Given the description of an element on the screen output the (x, y) to click on. 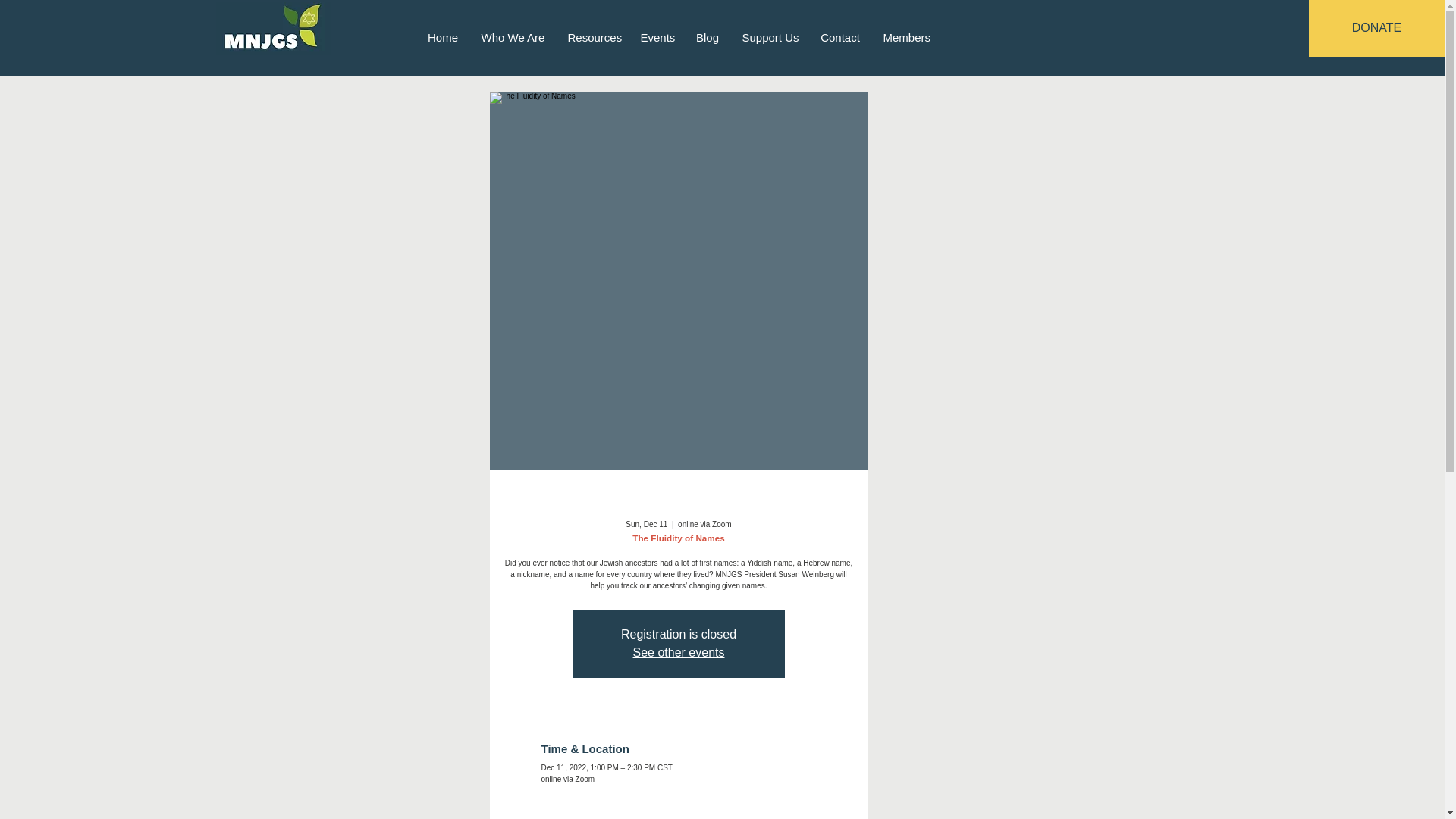
Resources (592, 37)
Blog (707, 37)
Events (656, 37)
Members (907, 37)
Who We Are (513, 37)
Support Us (769, 37)
Home (441, 37)
Contact (839, 37)
See other events (679, 652)
